Given the description of an element on the screen output the (x, y) to click on. 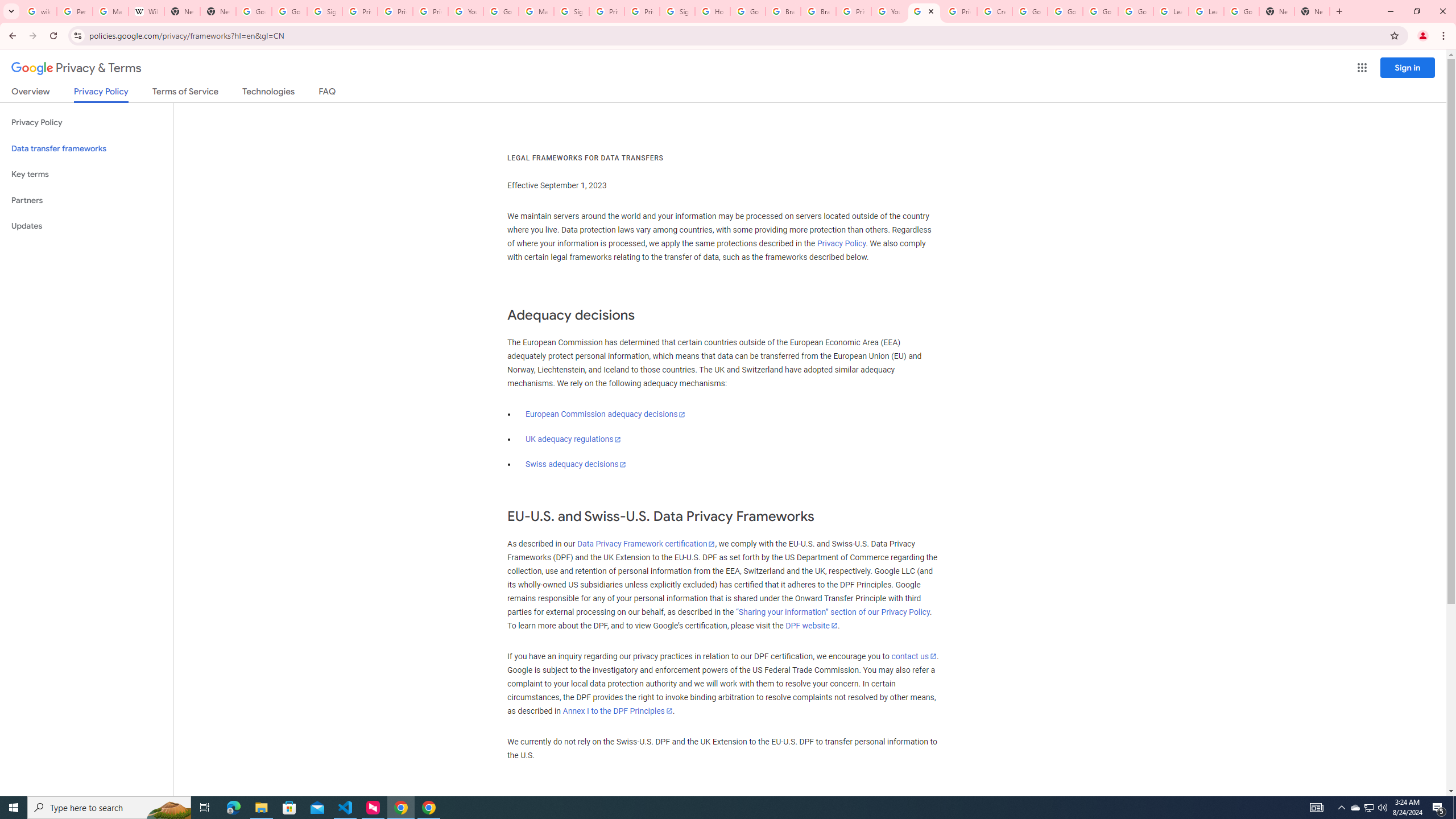
Partners (86, 199)
Sign in - Google Accounts (324, 11)
Swiss adequacy decisions (575, 464)
